Given the description of an element on the screen output the (x, y) to click on. 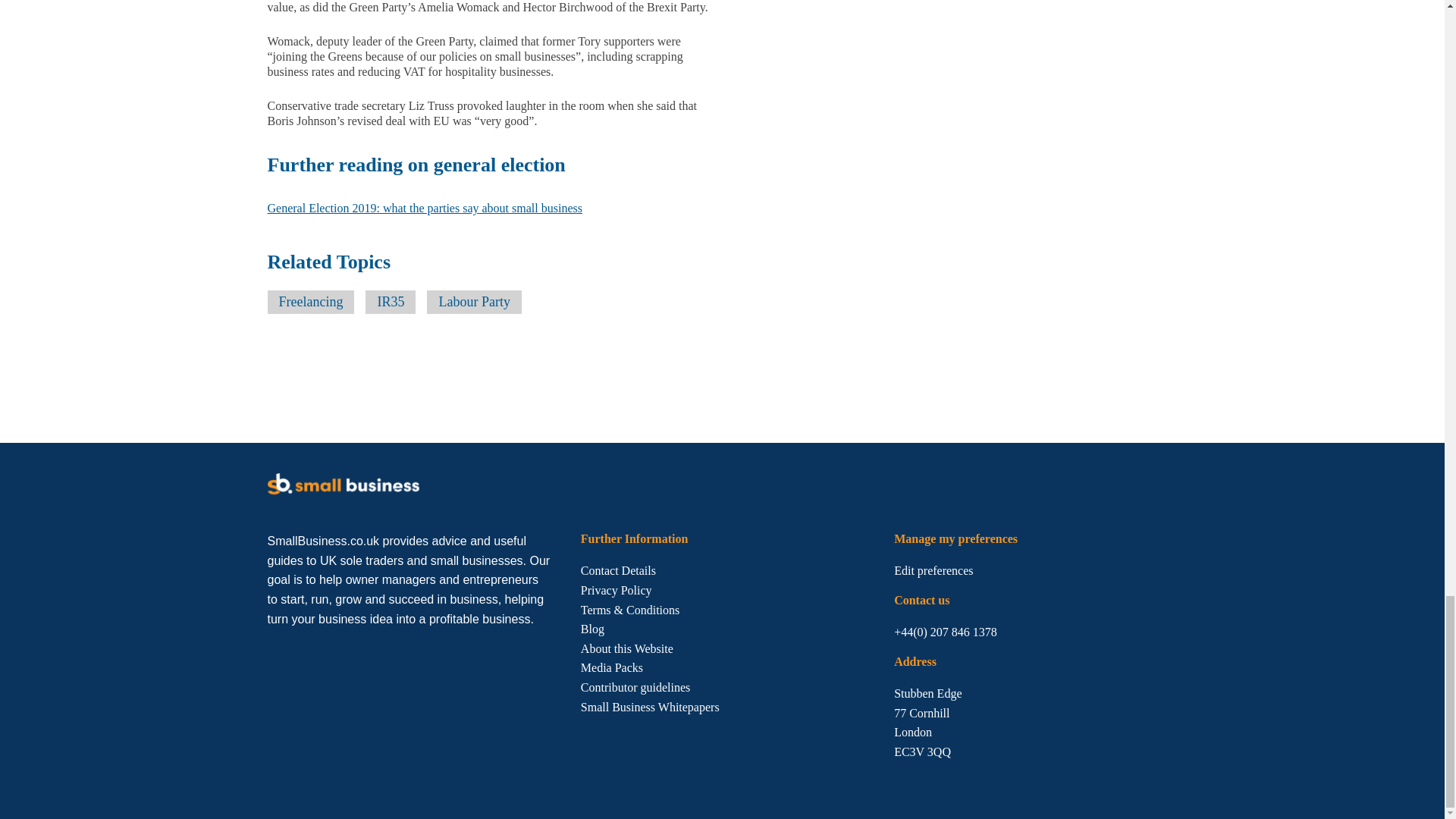
3rd party ad content (542, 377)
